Given the description of an element on the screen output the (x, y) to click on. 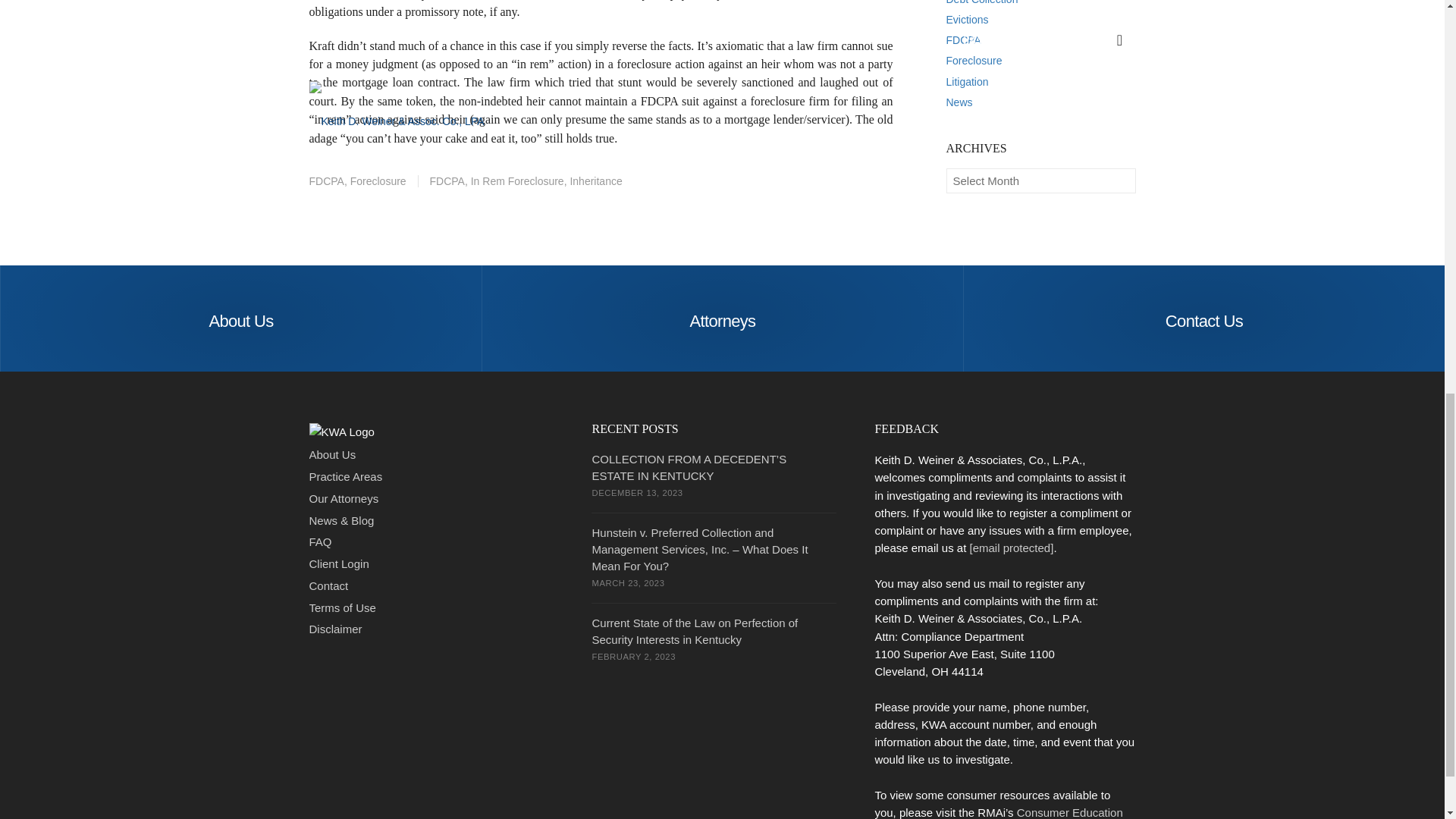
Inheritance (595, 181)
In Rem Foreclosure (517, 181)
FDCPA (325, 181)
Foreclosure (378, 181)
FDCPA (440, 181)
